Given the description of an element on the screen output the (x, y) to click on. 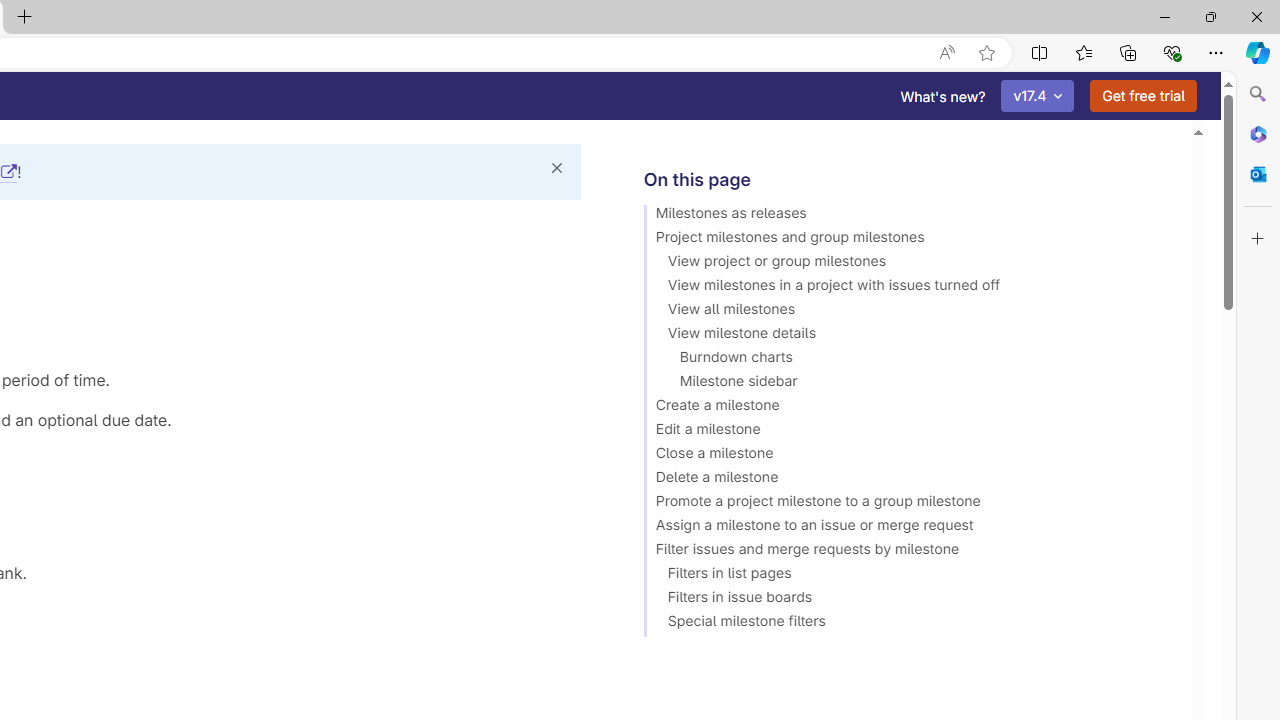
What's new? (943, 96)
What's new? (943, 96)
Filters in issue boards (908, 600)
Edit a milestone (908, 431)
Filter issues and merge requests by milestone (908, 552)
Promote a project milestone to a group milestone (908, 503)
Dismiss (556, 168)
Milestone sidebar (908, 384)
Filter issues and merge requests by milestone (908, 552)
Promote a project milestone to a group milestone (908, 503)
Delete a milestone (908, 480)
